Given the description of an element on the screen output the (x, y) to click on. 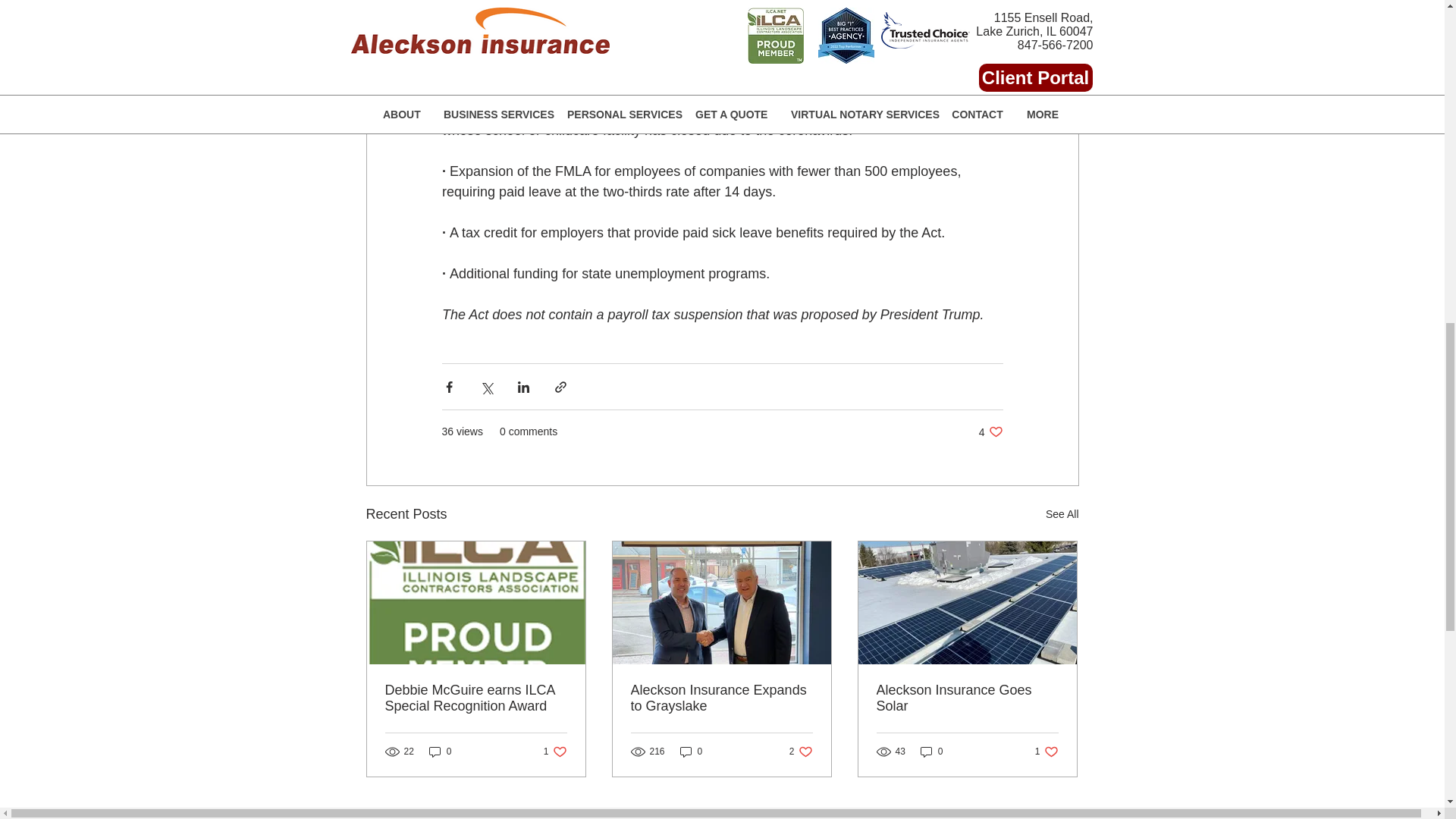
0 (990, 431)
Aleckson Insurance Expands to Grayslake (931, 751)
0 (721, 698)
0 (1046, 751)
Aleckson Insurance Goes Solar (691, 751)
Debbie McGuire earns ILCA Special Recognition Award (440, 751)
See All (967, 698)
